Given the description of an element on the screen output the (x, y) to click on. 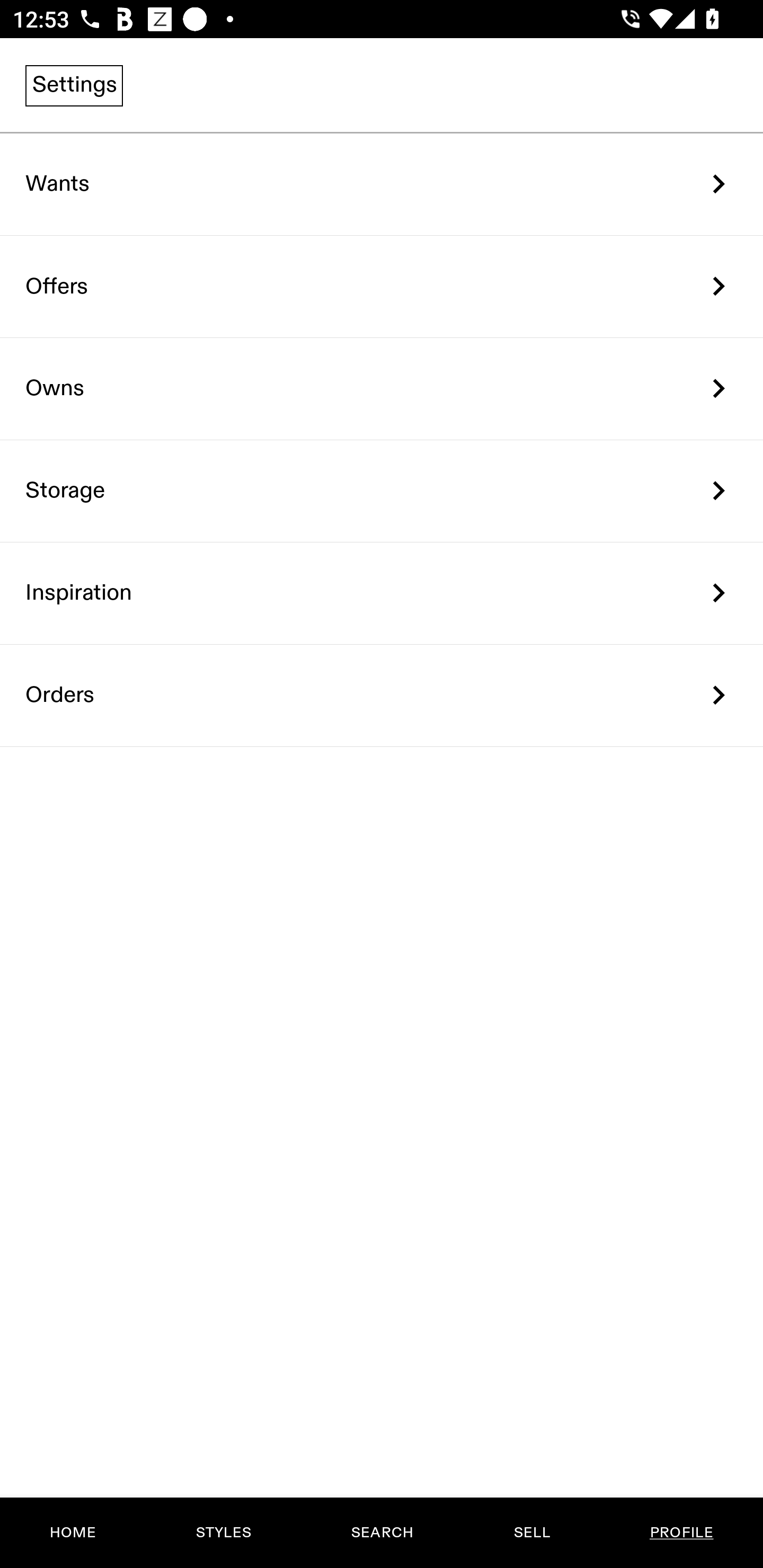
Settings (73, 85)
Wants (381, 184)
Offers (381, 286)
Owns (381, 388)
Storage (381, 491)
Inspiration (381, 593)
Orders (381, 695)
HOME (72, 1532)
STYLES (222, 1532)
SEARCH (381, 1532)
SELL (531, 1532)
PROFILE (681, 1532)
